Given the description of an element on the screen output the (x, y) to click on. 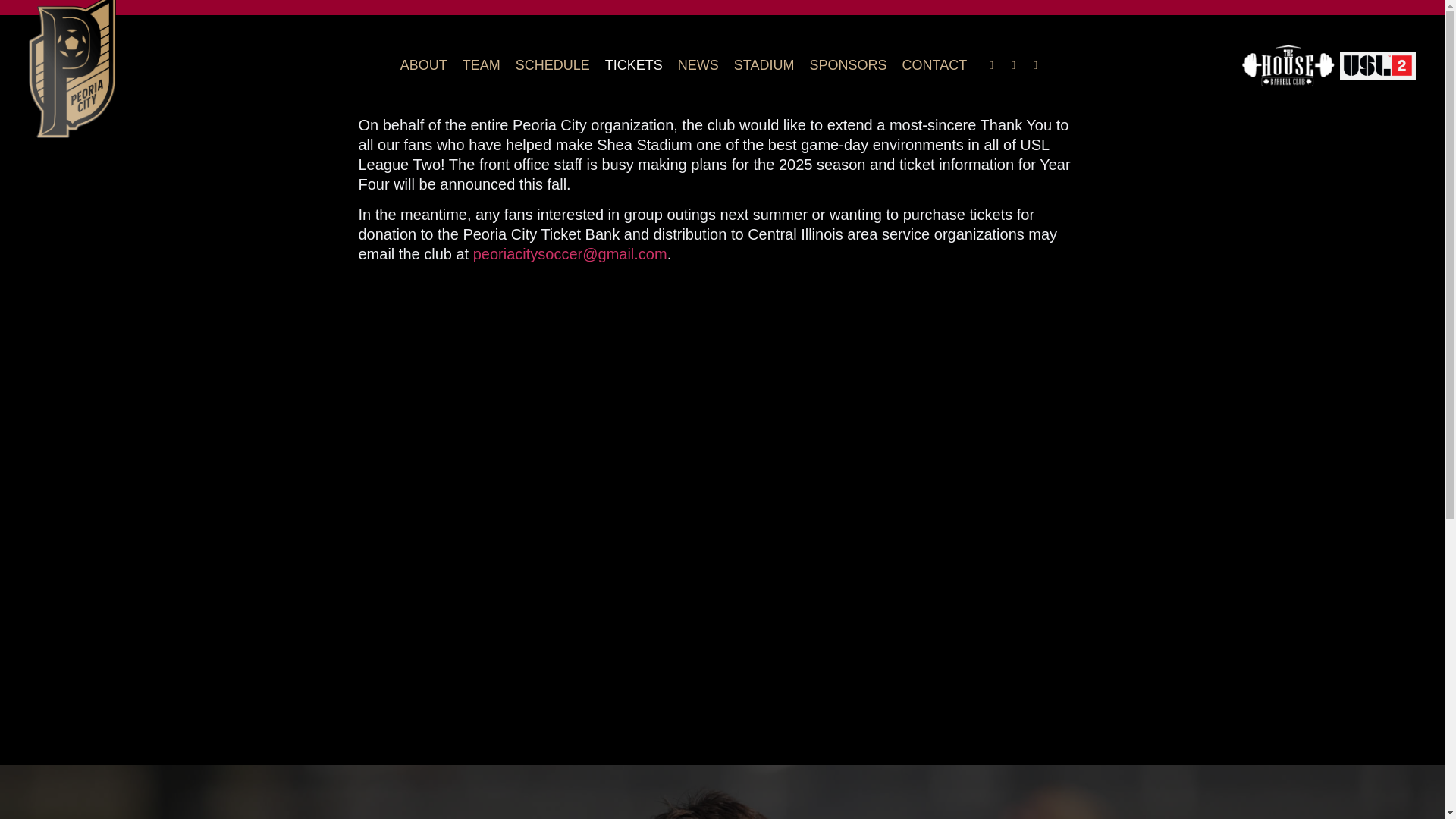
SPONSORS (847, 64)
SCHEDULE (552, 64)
ABOUT (423, 64)
CONTACT (935, 64)
TICKETS (633, 64)
STADIUM (763, 64)
NEWS (698, 64)
TEAM (481, 64)
